Given the description of an element on the screen output the (x, y) to click on. 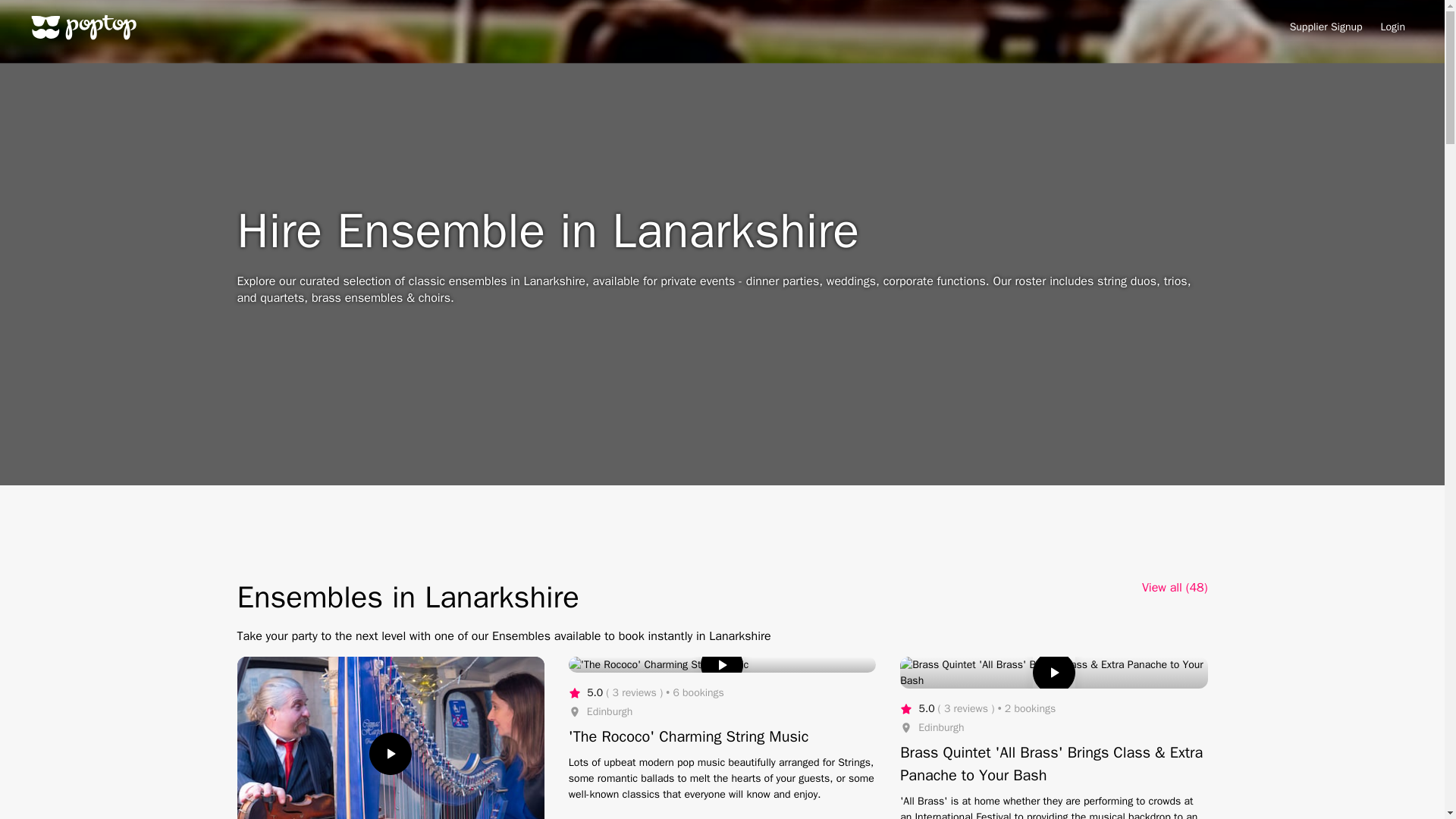
Login (1392, 26)
Supplier Signup (1326, 26)
